Given the description of an element on the screen output the (x, y) to click on. 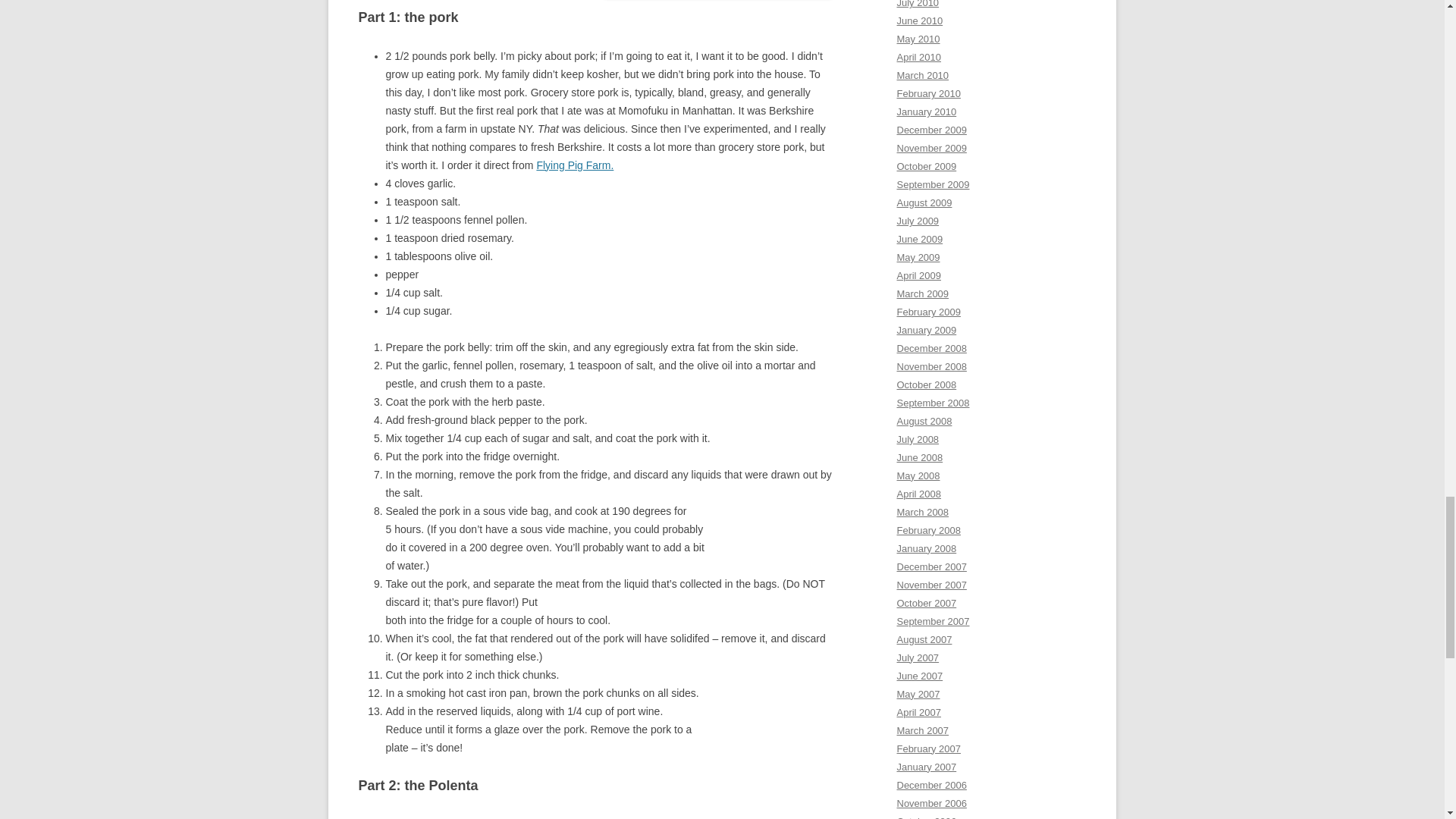
Flying Pig Farm. (573, 164)
